Given the description of an element on the screen output the (x, y) to click on. 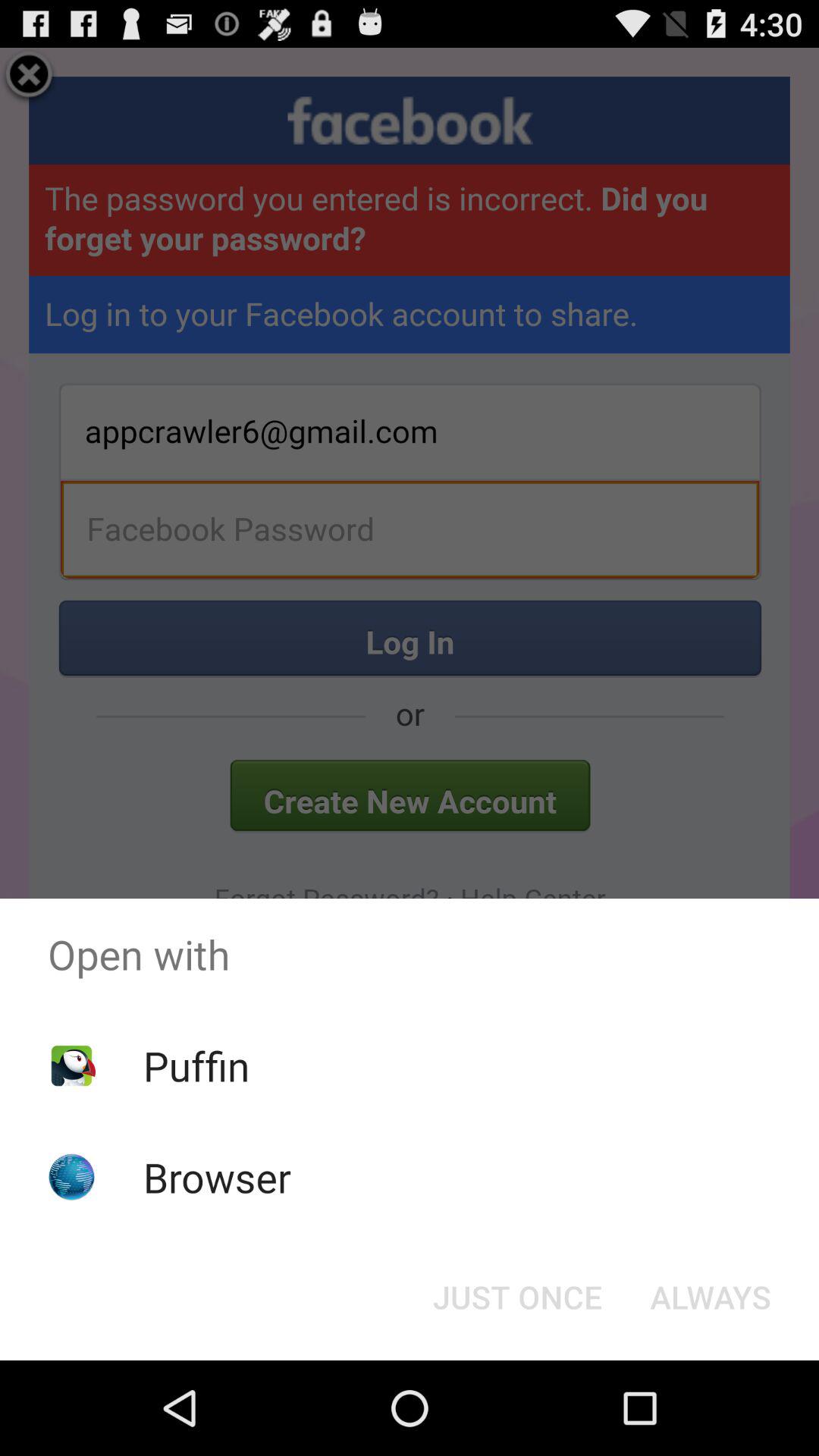
click item below open with item (517, 1296)
